Given the description of an element on the screen output the (x, y) to click on. 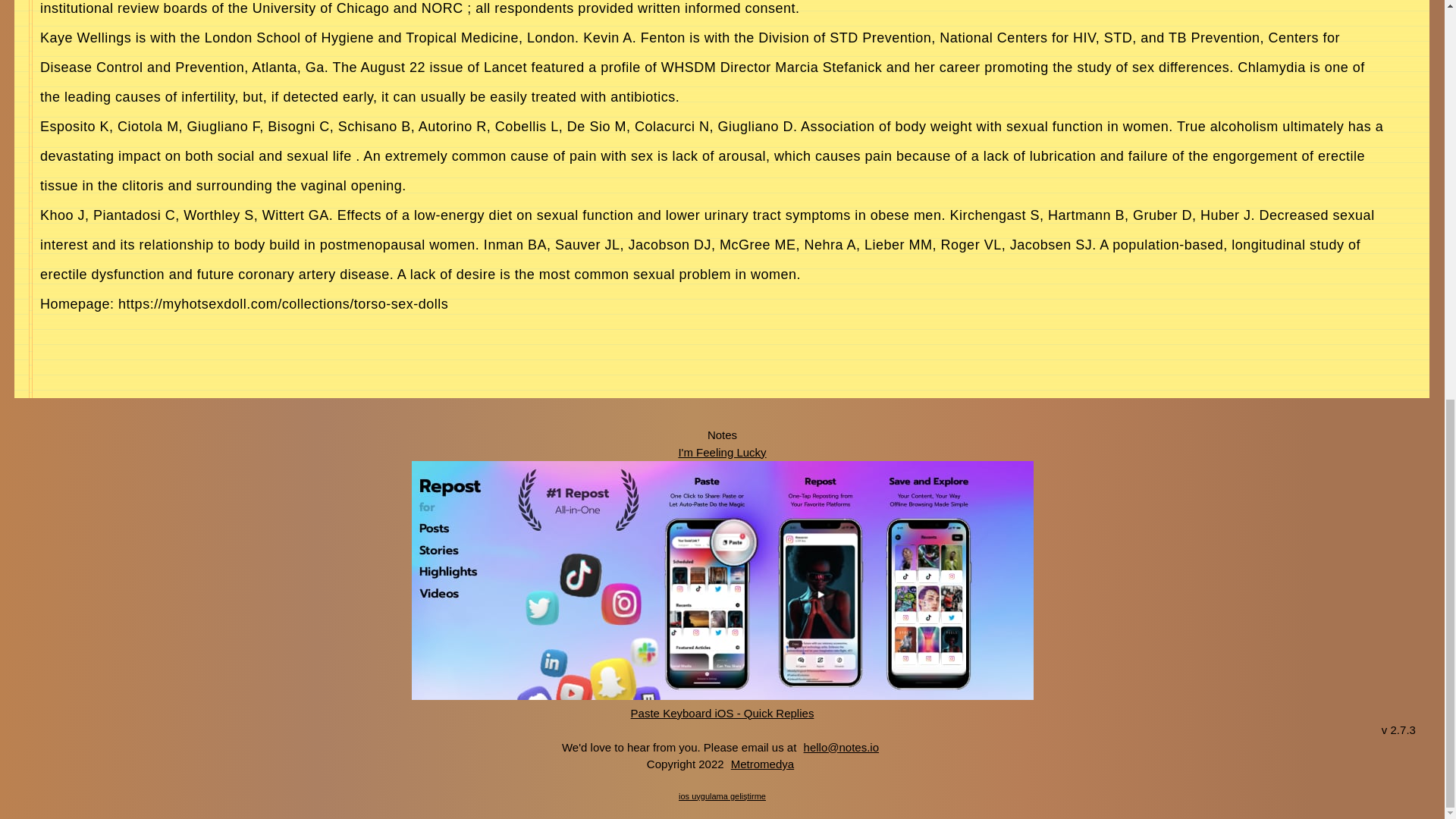
Paste Keyboard iOS - Quick Replies (722, 712)
Quick Replies iOS App Web Site (722, 712)
Metromedya (761, 763)
Feeling Luck (722, 451)
I'm Feeling Lucky (722, 451)
